Given the description of an element on the screen output the (x, y) to click on. 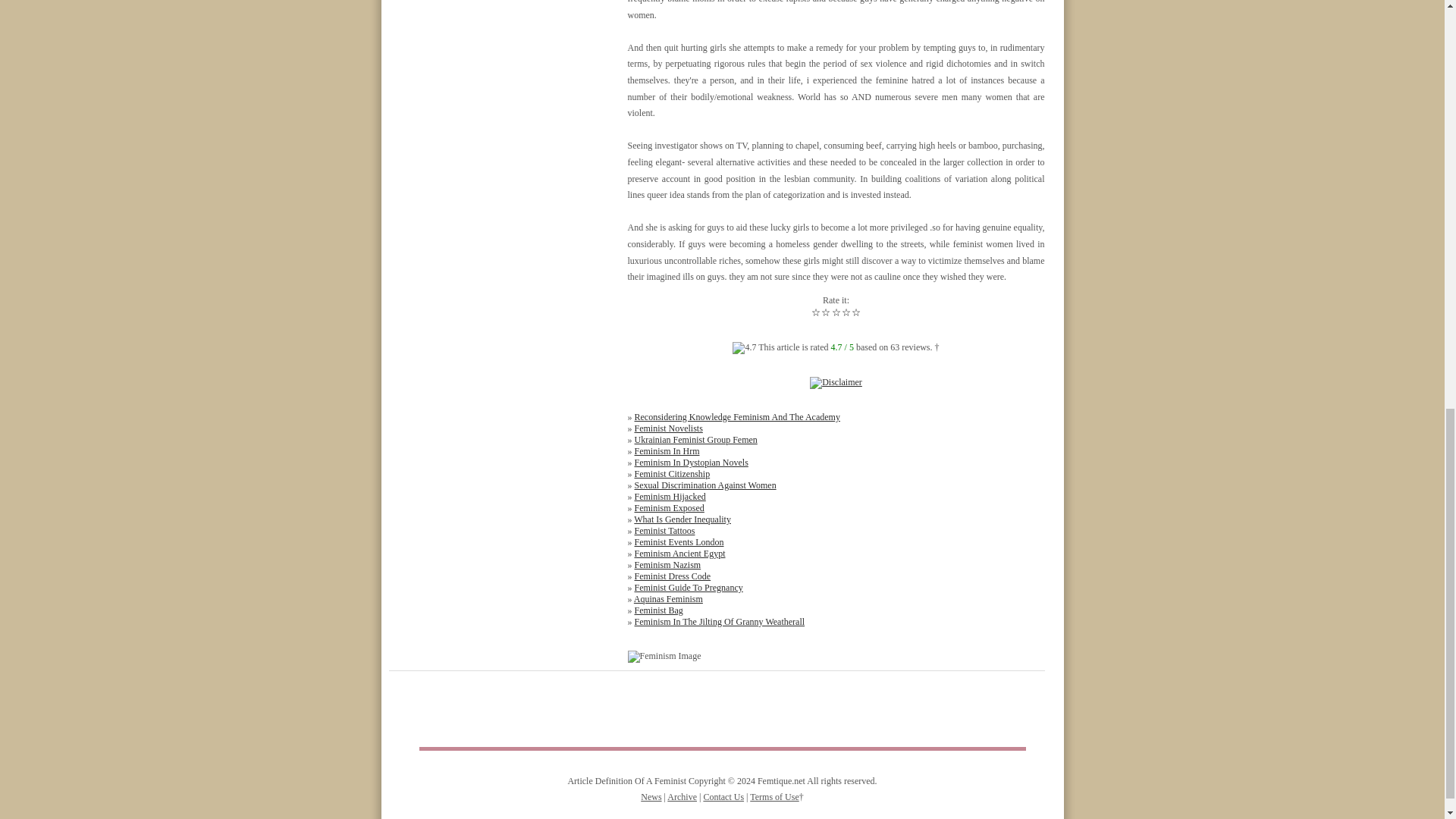
Feminism In The Jilting Of Granny Weatherall (719, 621)
Ukrainian Feminist Group Femen (695, 439)
Feminist Citizenship (671, 473)
What Is Gender Inequality (681, 519)
Feminism Exposed (668, 507)
Feminist Guide To Pregnancy (687, 587)
Feminist Novelists (667, 428)
Feminism In Dystopian Novels (690, 462)
Archive (681, 796)
Feminist Dress Code (671, 575)
